Given the description of an element on the screen output the (x, y) to click on. 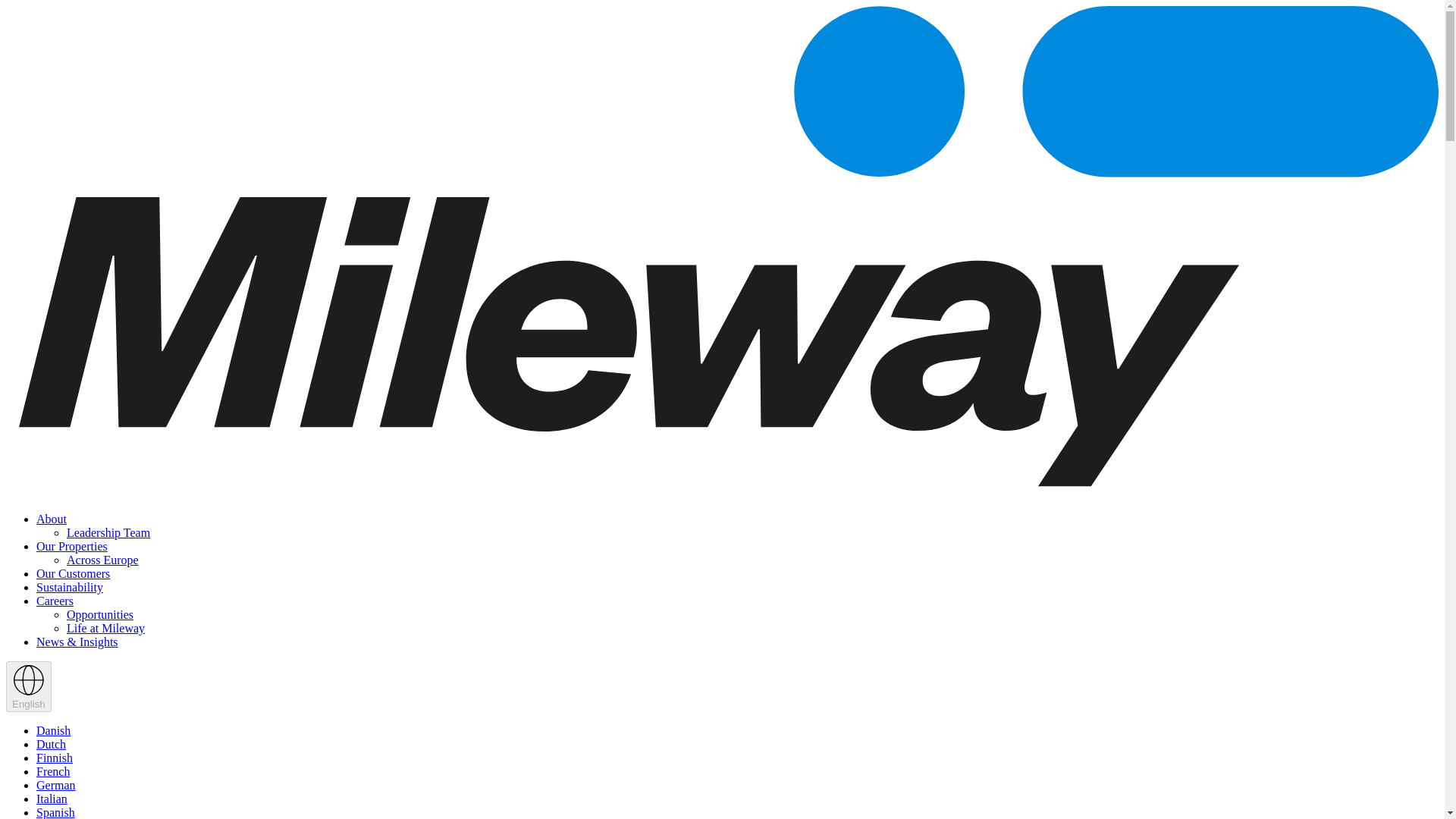
Leadership Team (107, 532)
About (51, 518)
Across Europe (102, 559)
French (52, 771)
Sustainability (69, 586)
Italian (51, 798)
Life at Mileway (105, 627)
Dutch (50, 744)
Our Customers (73, 573)
Careers (55, 600)
